Given the description of an element on the screen output the (x, y) to click on. 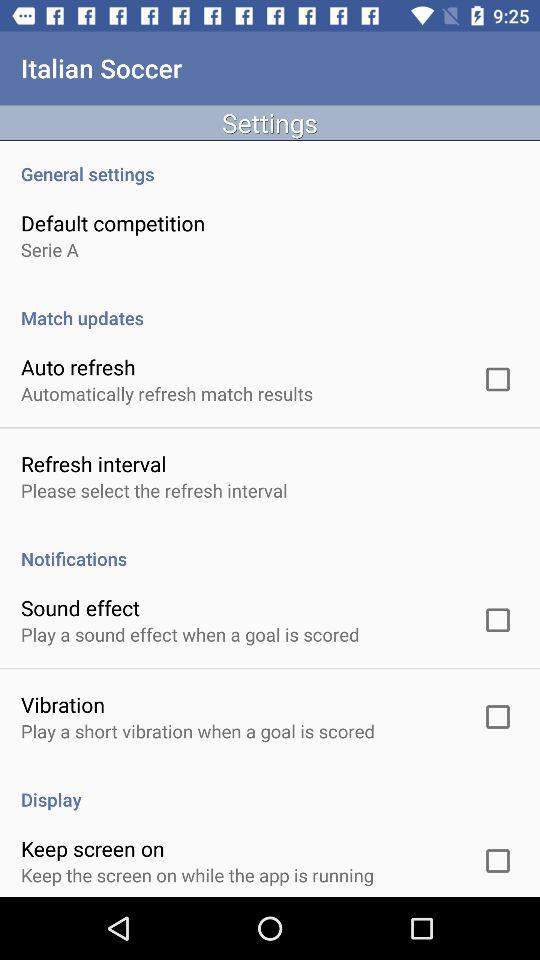
choose default competition app (113, 222)
